Given the description of an element on the screen output the (x, y) to click on. 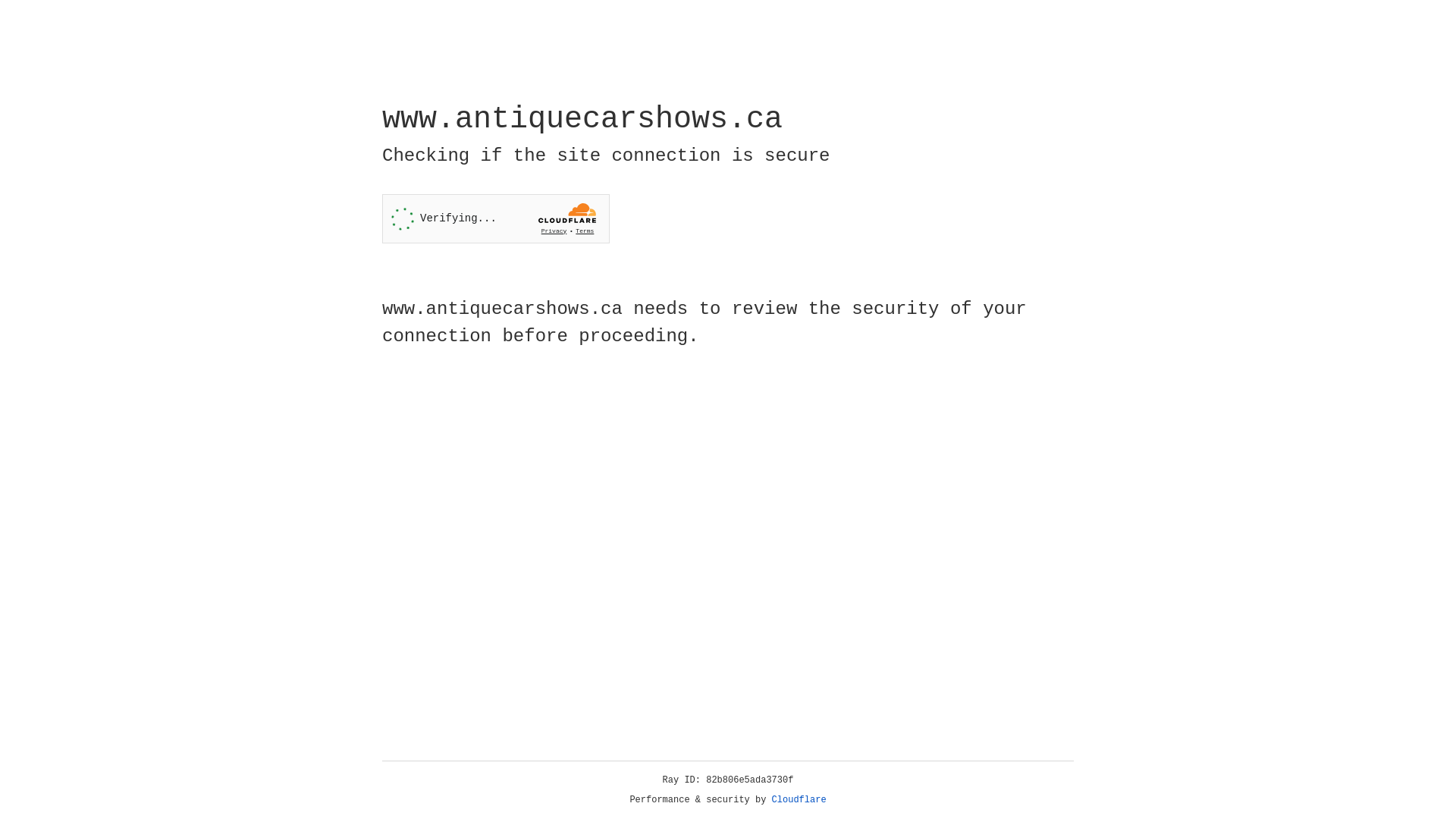
Widget containing a Cloudflare security challenge Element type: hover (495, 218)
Cloudflare Element type: text (798, 799)
